Given the description of an element on the screen output the (x, y) to click on. 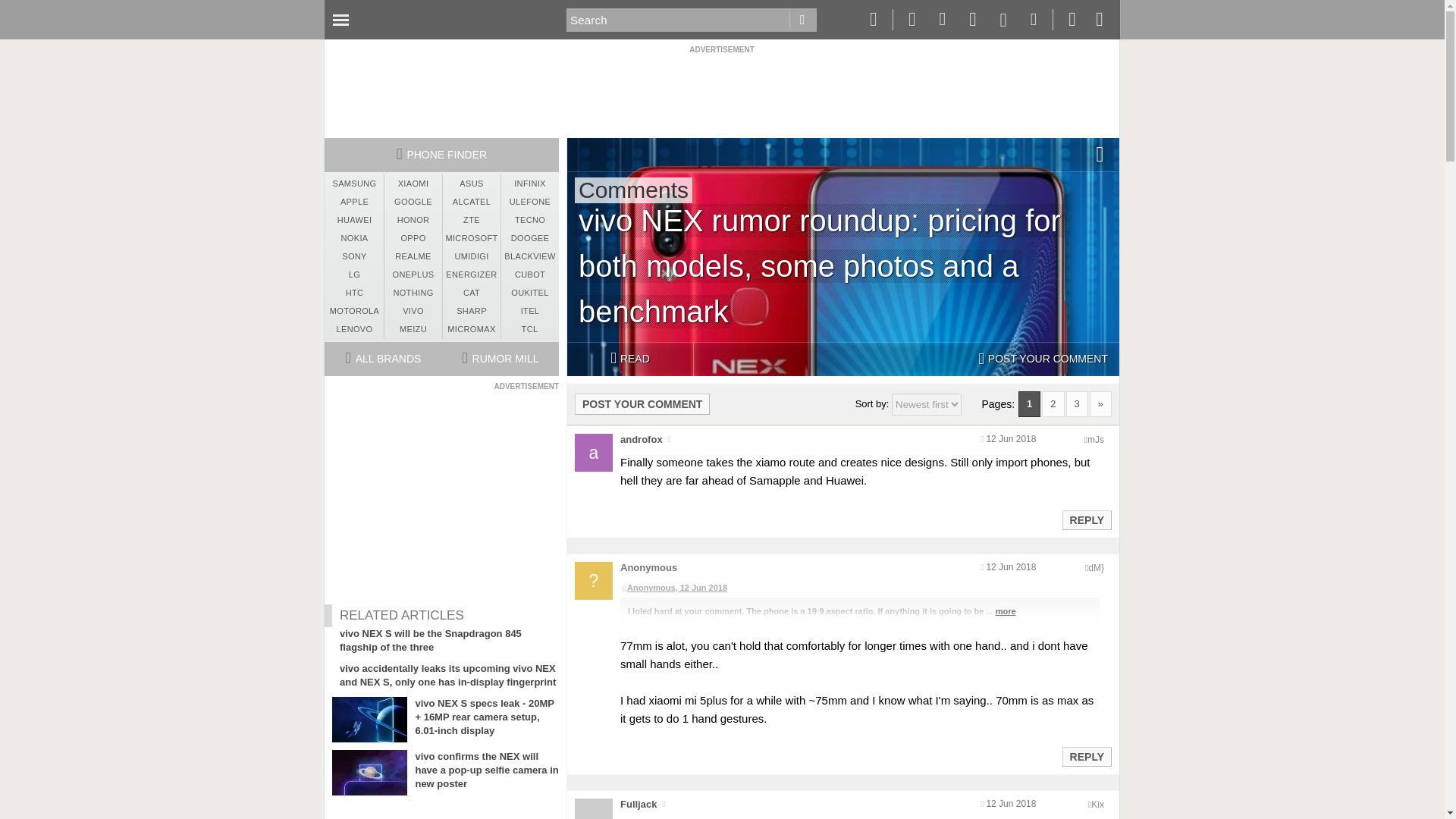
androfox (641, 439)
Sort comments by (925, 404)
Go (802, 19)
Anonymous, 12 Jun 2018 (859, 588)
more (1005, 610)
Go (802, 19)
Encoded anonymized location (1095, 439)
REPLY (1086, 520)
Reply to this post (1086, 520)
READ (630, 359)
POST YOUR COMMENT (1042, 359)
REPLY (1086, 756)
POST YOUR COMMENT (642, 403)
Reply to this post (1086, 756)
Encoded anonymized location (1096, 804)
